Given the description of an element on the screen output the (x, y) to click on. 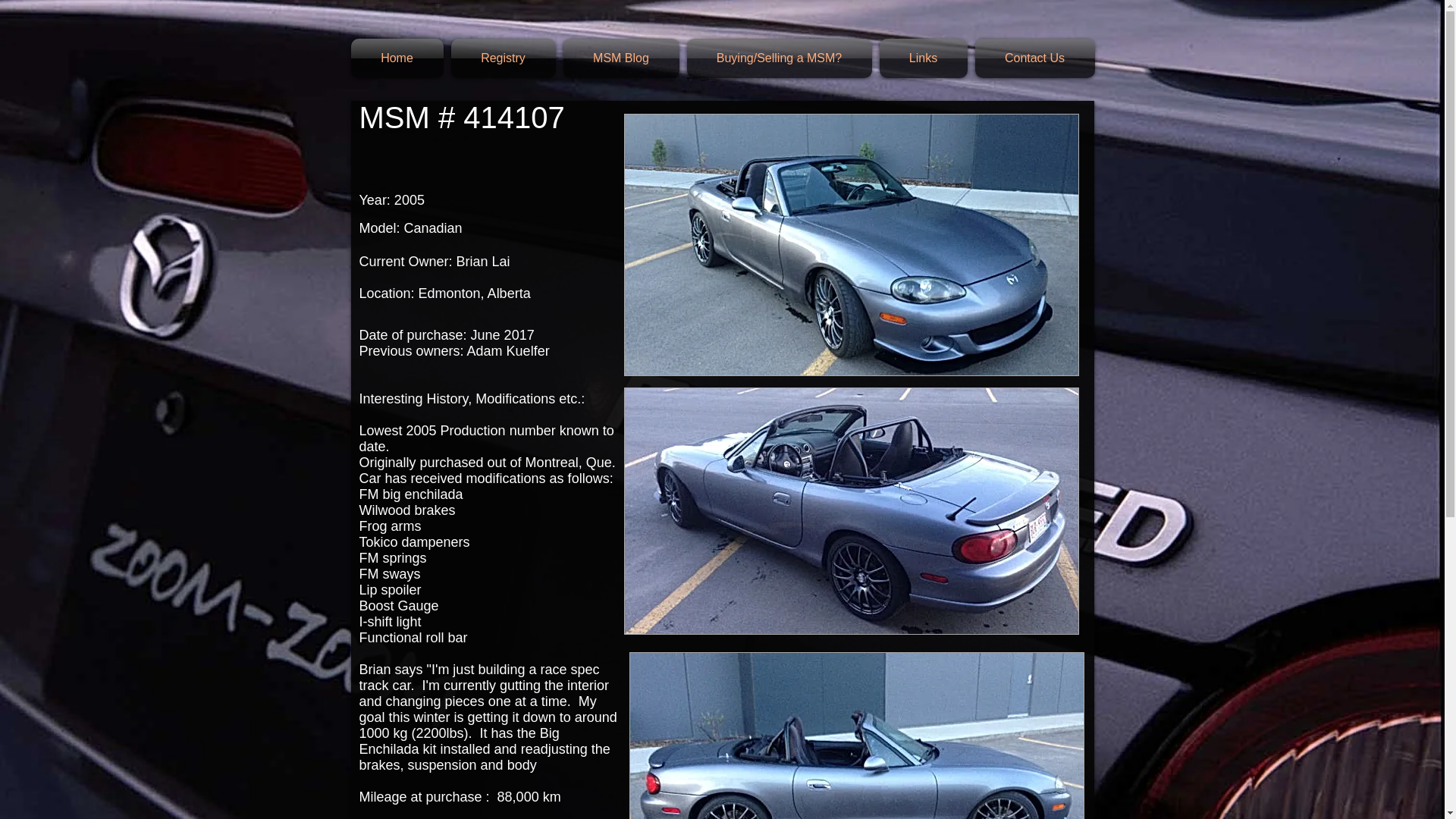
MSM Blog (620, 57)
Links (923, 57)
Registry (502, 57)
Home (398, 57)
Contact Us (1032, 57)
